Given the description of an element on the screen output the (x, y) to click on. 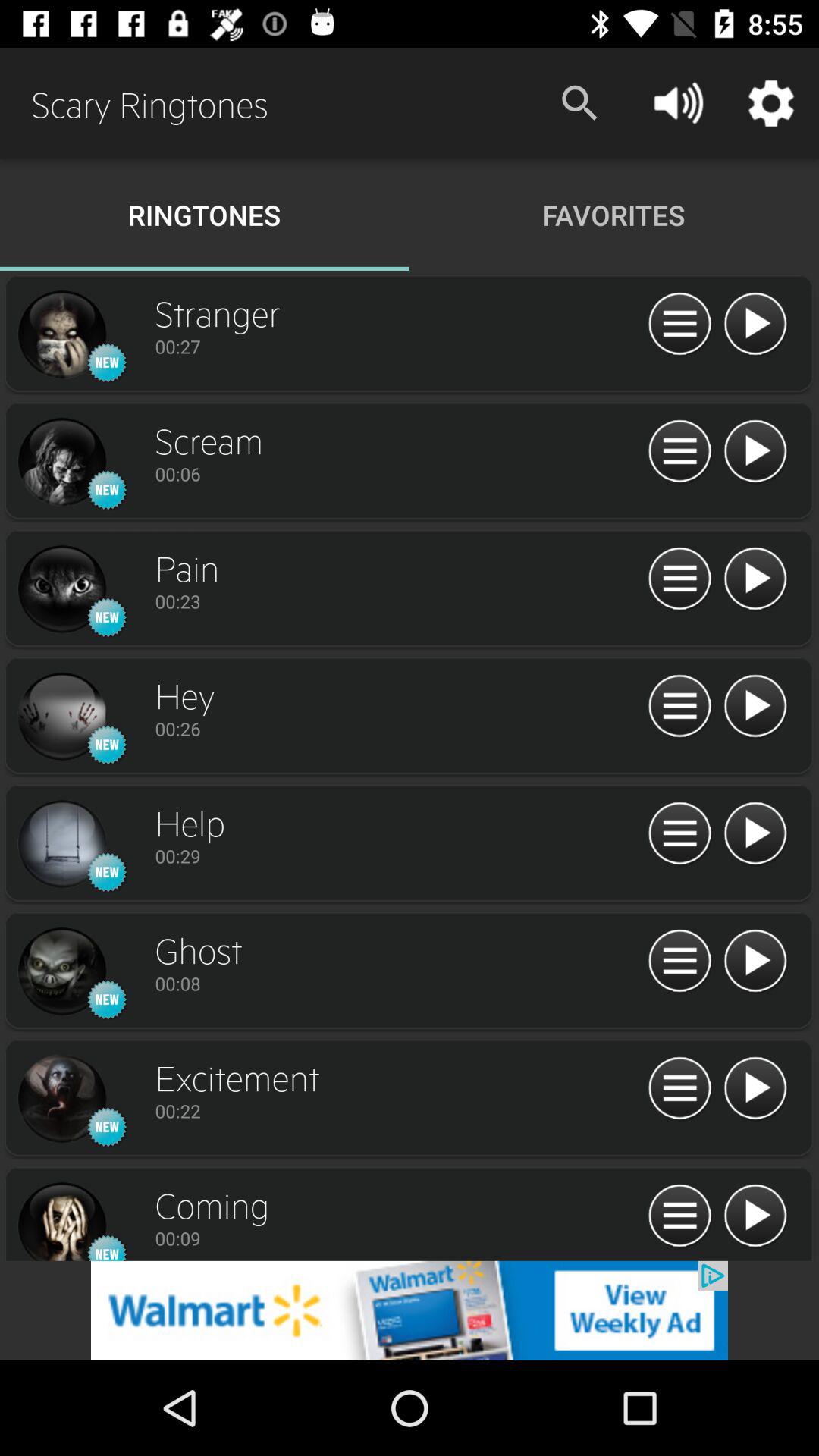
listen to option (755, 451)
